Given the description of an element on the screen output the (x, y) to click on. 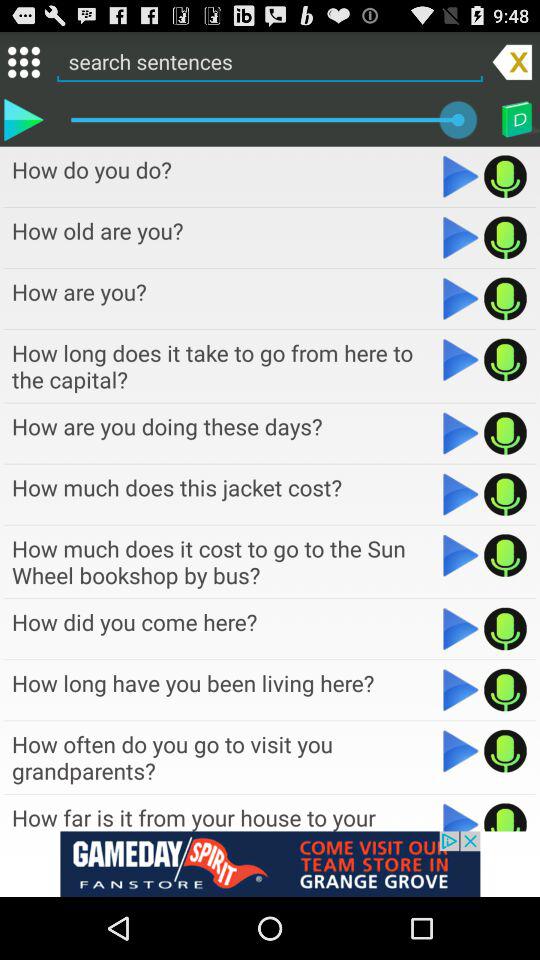
play this audio (505, 751)
